Given the description of an element on the screen output the (x, y) to click on. 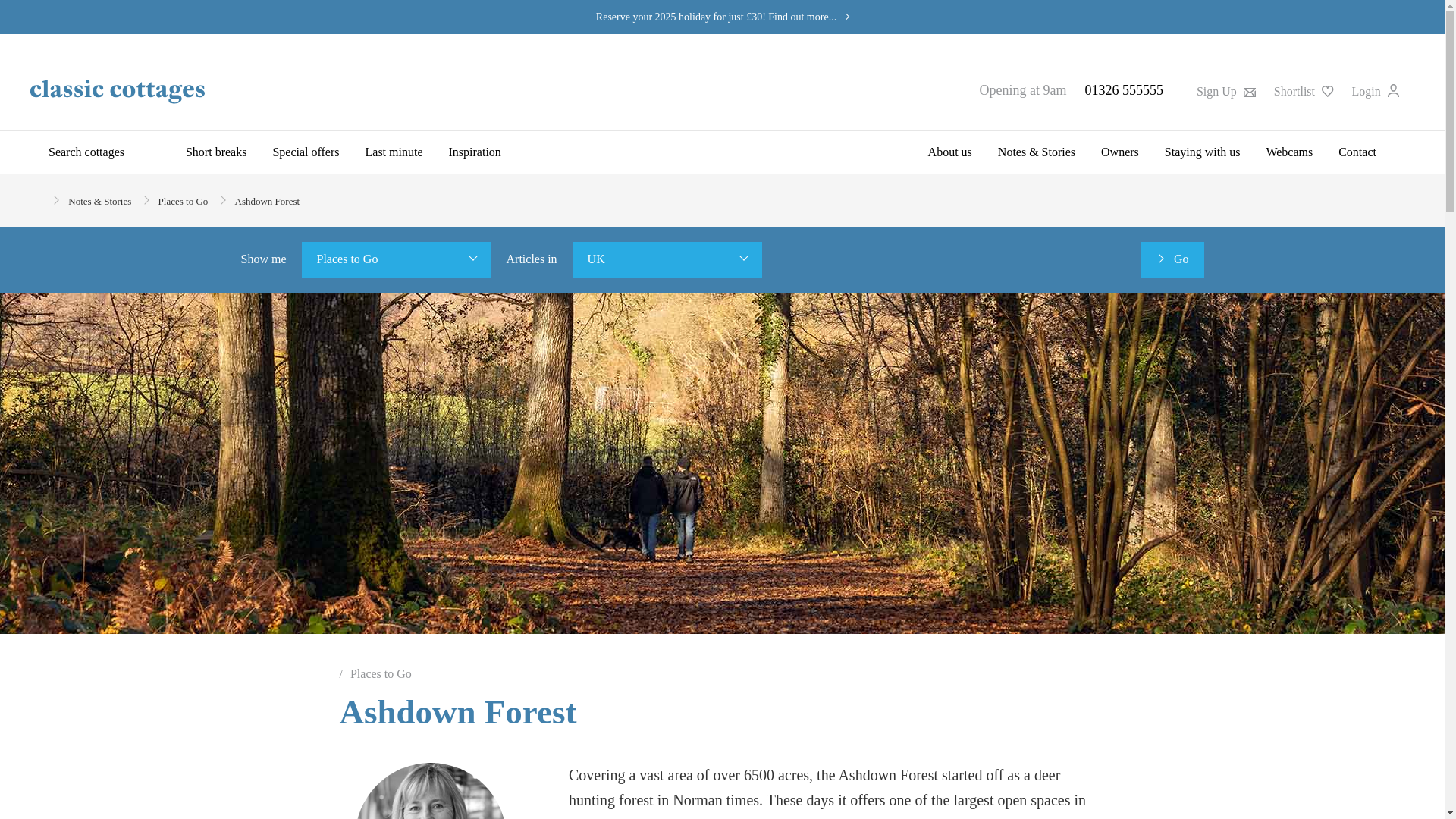
Login (1375, 91)
Shortlist (1303, 91)
About us (950, 152)
Places to Go (183, 201)
Sign up (1225, 91)
Webcams (1288, 152)
01326 555555 (1123, 89)
Staying with us (1202, 152)
Last minute (393, 152)
Shortlist (1303, 91)
